Given the description of an element on the screen output the (x, y) to click on. 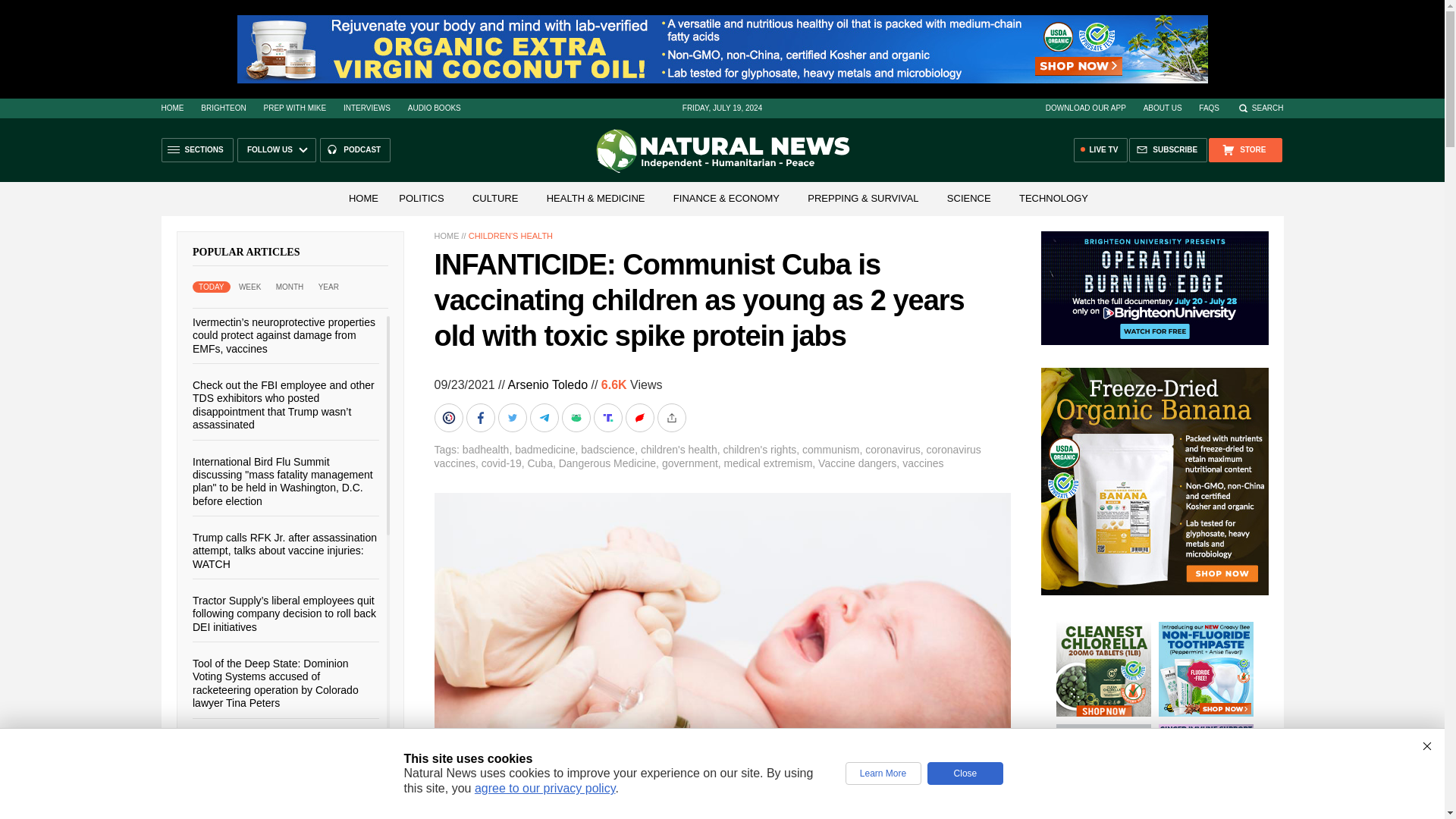
More Share Options (672, 417)
FAQS (1209, 108)
TECHNOLOGY (1053, 197)
AUDIO BOOKS (434, 108)
POLITICS (421, 197)
SCIENCE (968, 197)
Share on Telegram (544, 417)
ABOUT US (1162, 108)
CULTURE (495, 197)
Share on Facebook (481, 417)
STORE (1244, 150)
SUBSCRIBE (1168, 150)
BRIGHTEON (223, 108)
